Given the description of an element on the screen output the (x, y) to click on. 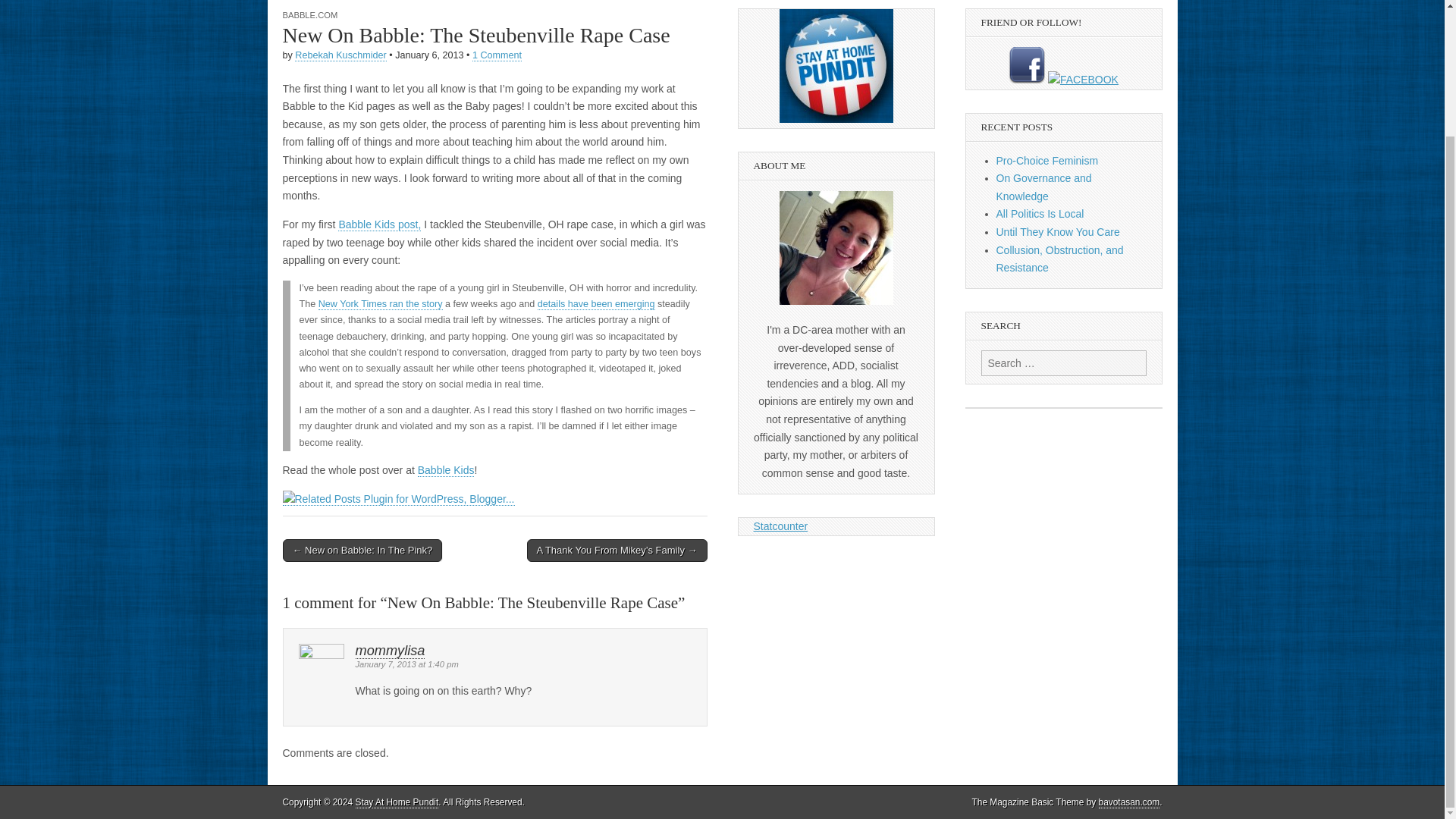
Pro-Choice Feminism (1047, 160)
details have been emerging (596, 304)
All Politics Is Local (1039, 214)
Rebekah Kuschmider (340, 55)
BABBLE.COM (309, 14)
bavotasan.com (1129, 802)
FACEBOOK (1027, 79)
1 Comment (496, 55)
FACEBOOK (1083, 79)
Posts by Rebekah Kuschmider (340, 55)
Until They Know You Care (1057, 232)
Babble Kids post, (378, 224)
Babble Kids (445, 470)
Collusion, Obstruction, and Resistance (1059, 259)
On Governance and Knowledge (1043, 186)
